Given the description of an element on the screen output the (x, y) to click on. 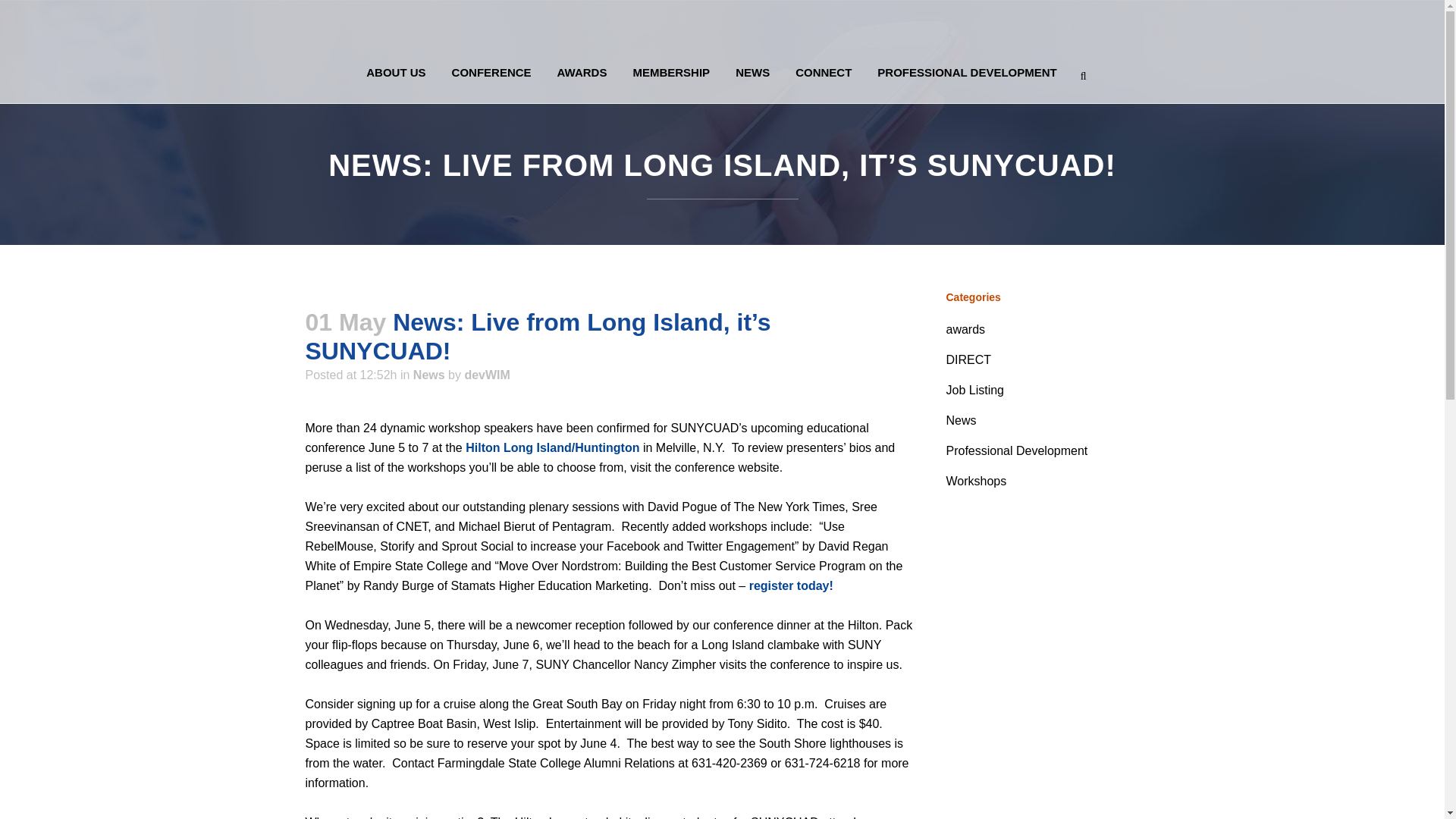
register today! (790, 585)
Professional Development (1016, 450)
AWARDS (582, 72)
News (429, 374)
CONNECT (823, 72)
MEMBERSHIP (671, 72)
DIRECT (968, 359)
Job Listing (975, 390)
News (961, 420)
CONFERENCE (491, 72)
ABOUT US (395, 72)
NEWS (752, 72)
awards (965, 328)
devWIM (486, 374)
Workshops (976, 481)
